Given the description of an element on the screen output the (x, y) to click on. 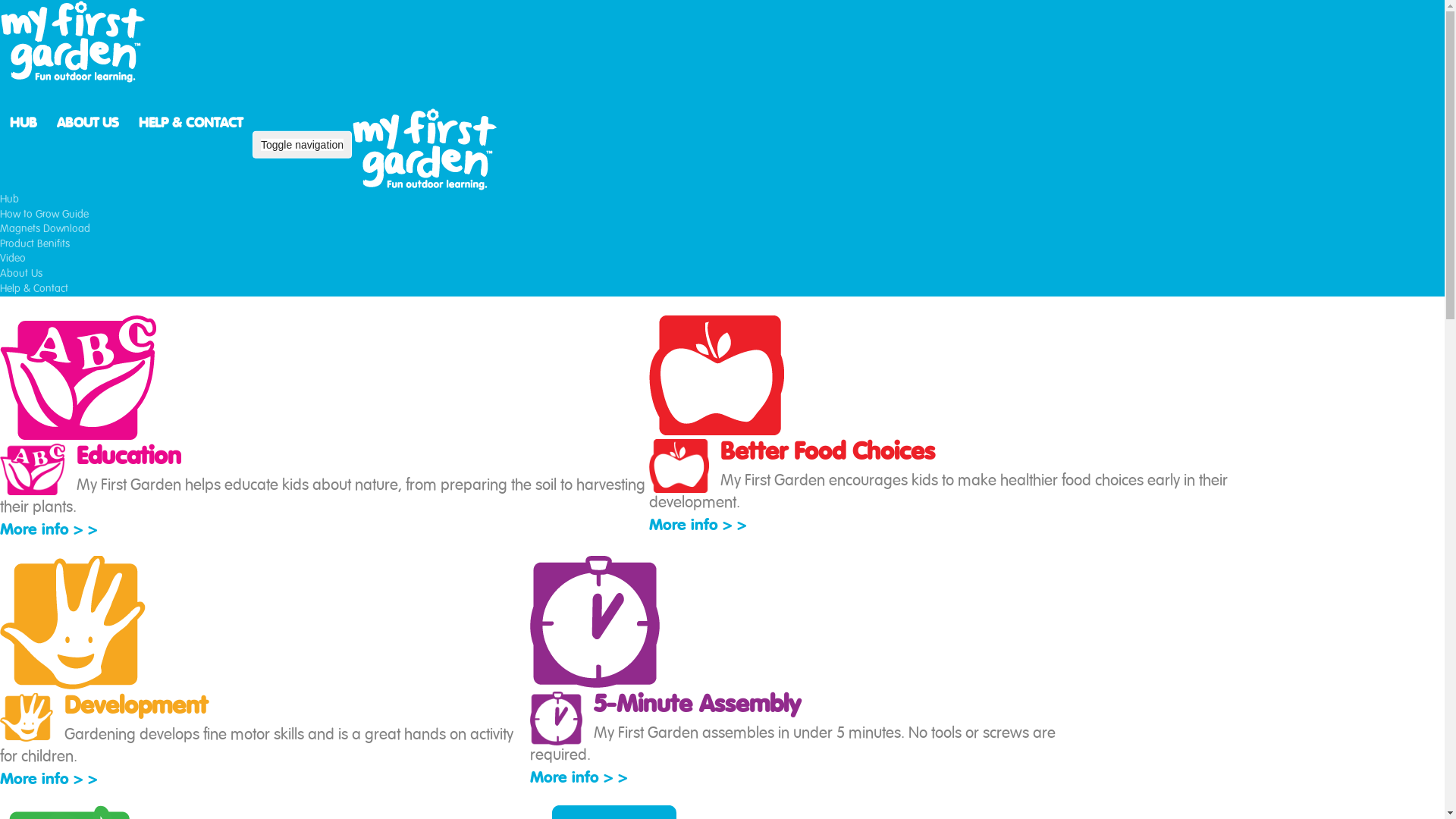
Magnets Download Element type: text (45, 228)
How to Grow Guide Element type: text (44, 214)
Product Benifits Element type: text (34, 243)
Help & Contact Element type: text (34, 288)
HELP & CONTACT Element type: text (190, 122)
Video Element type: text (12, 258)
About Us Element type: text (21, 273)
Hub Element type: text (9, 199)
ABOUT US Element type: text (87, 122)
My First Garden Element type: hover (426, 149)
HUB Element type: text (23, 122)
My First Garden Element type: hover (75, 41)
Toggle navigation Element type: text (301, 144)
